Given the description of an element on the screen output the (x, y) to click on. 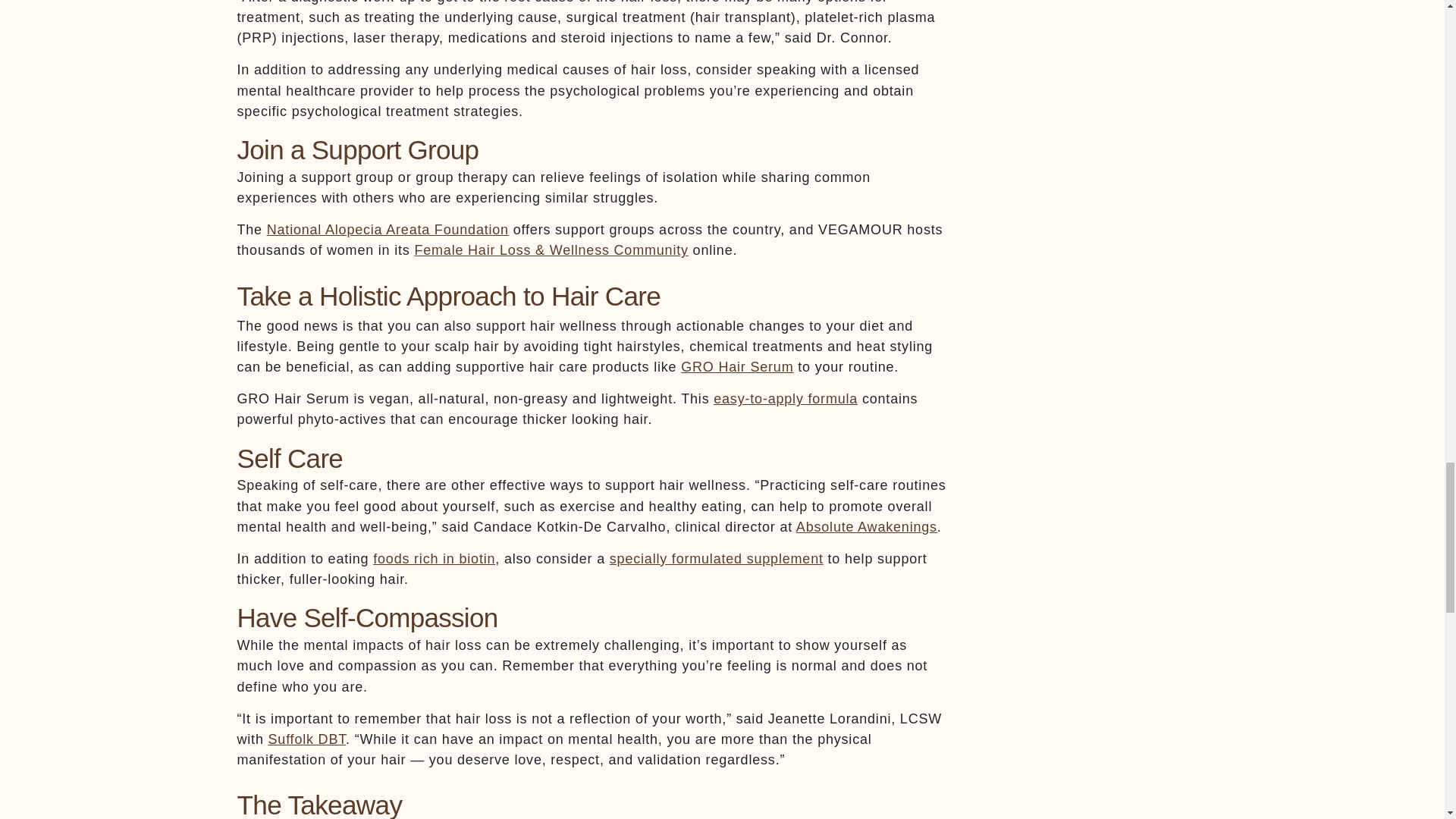
food with biotin (433, 558)
how to apply vegamour (785, 398)
gro hair serum (737, 366)
female hair loss group (550, 249)
supplements (717, 558)
